Given the description of an element on the screen output the (x, y) to click on. 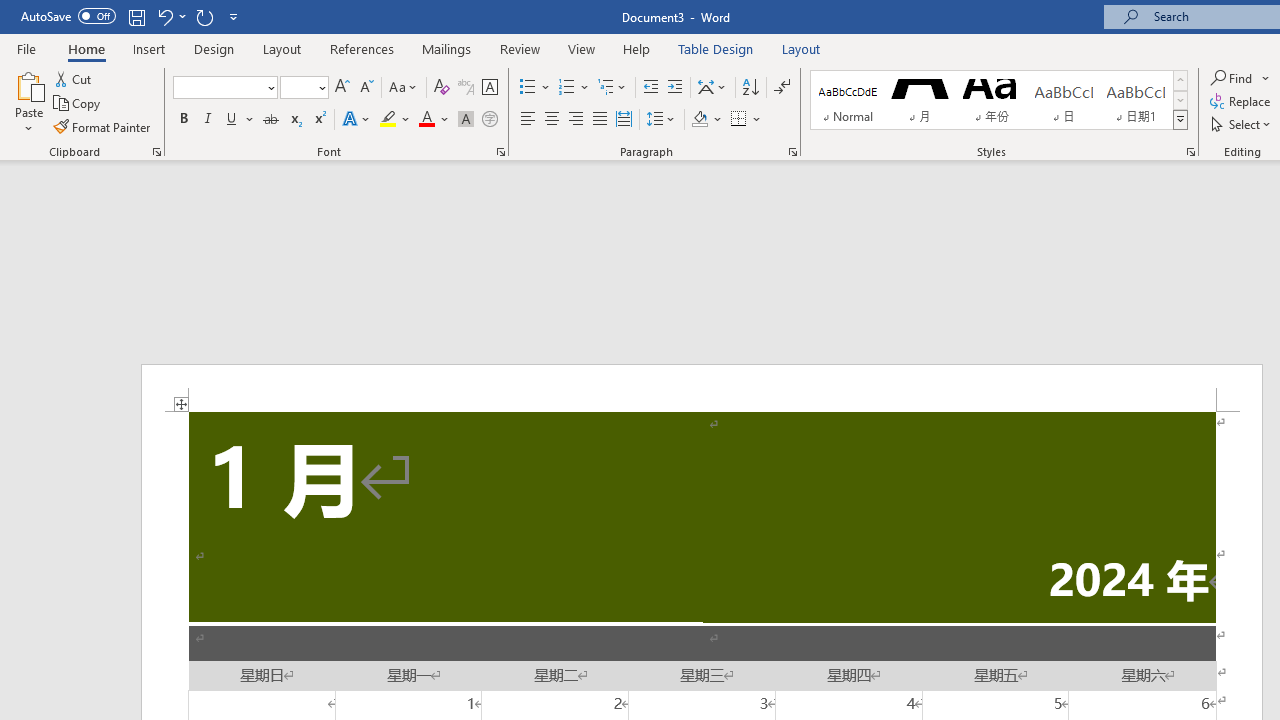
Repeat Style (204, 15)
